Given the description of an element on the screen output the (x, y) to click on. 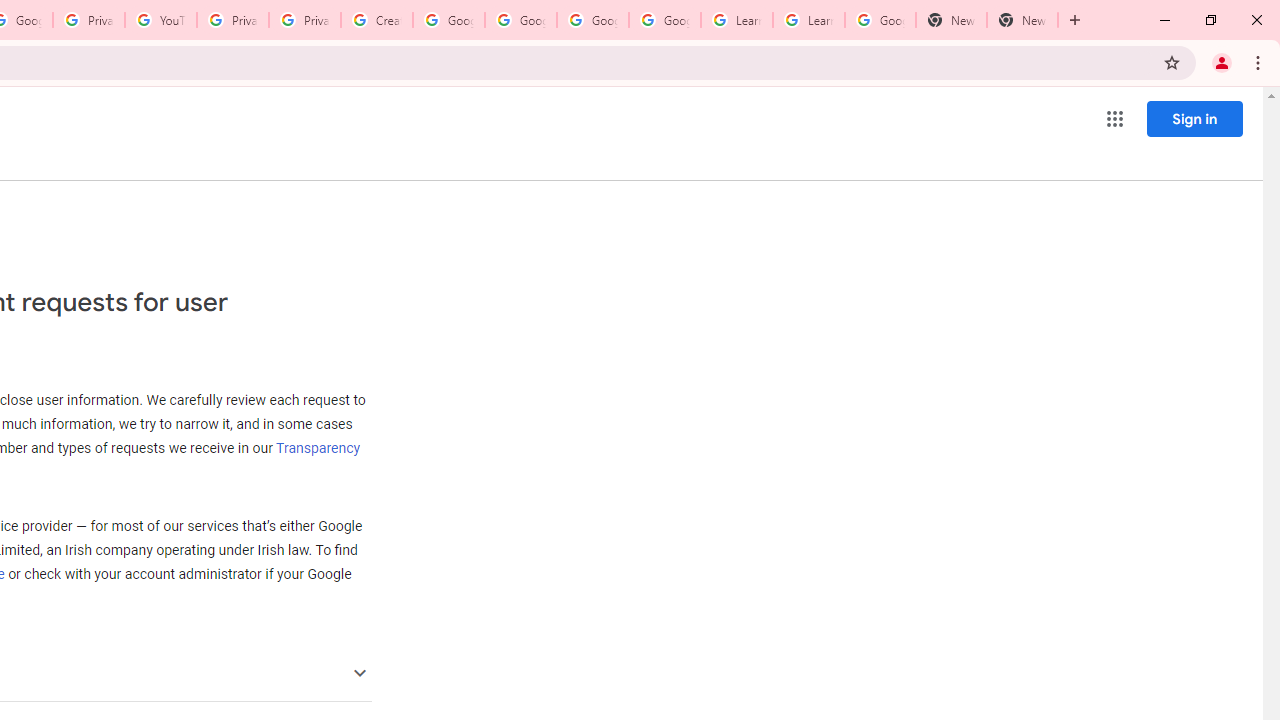
Google Account Help (449, 20)
Google Account Help (592, 20)
Google Account (880, 20)
New Tab (1022, 20)
YouTube (161, 20)
